Given the description of an element on the screen output the (x, y) to click on. 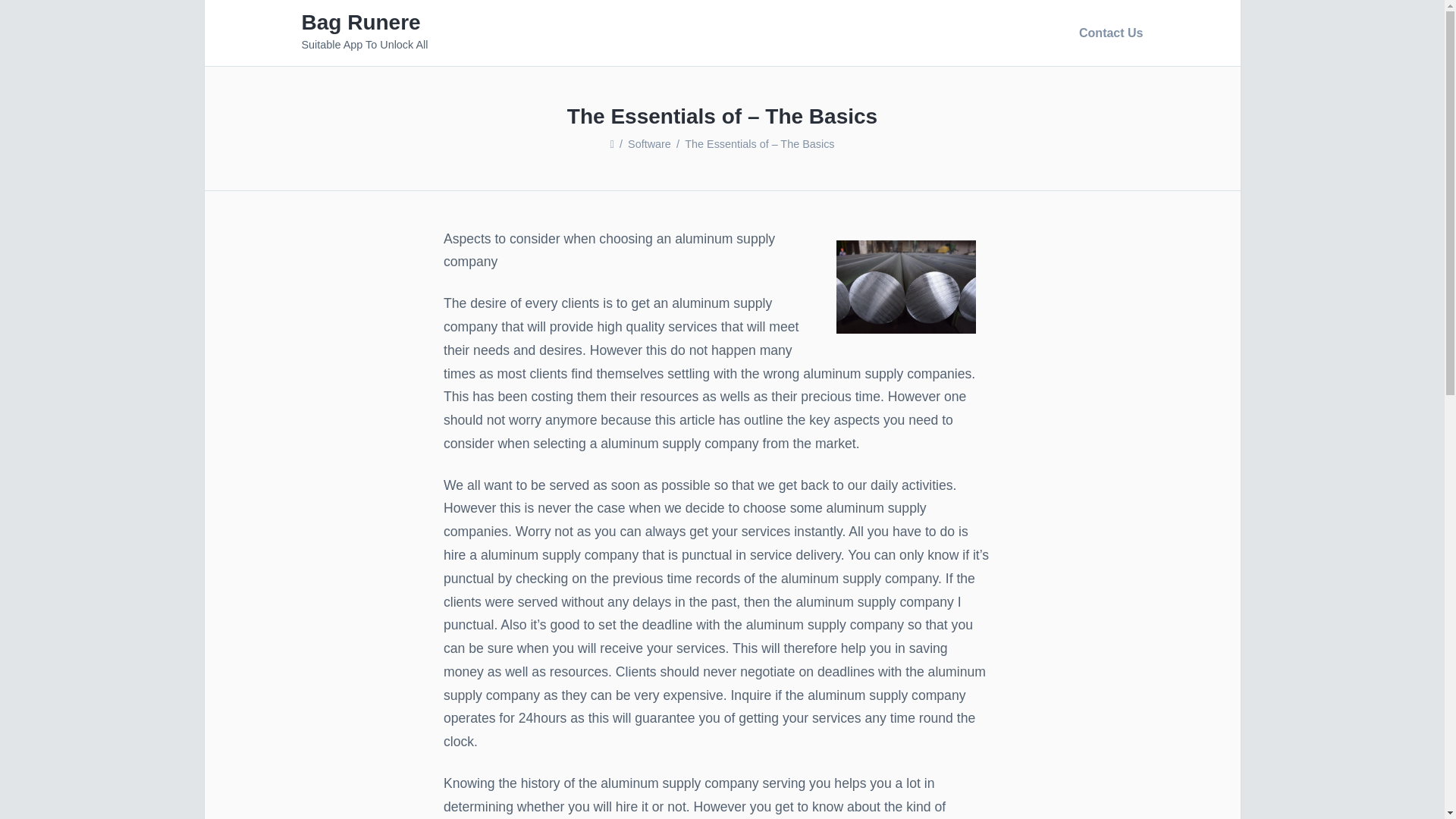
Software (649, 143)
Bag Runere (360, 22)
Contact Us (1106, 32)
